Given the description of an element on the screen output the (x, y) to click on. 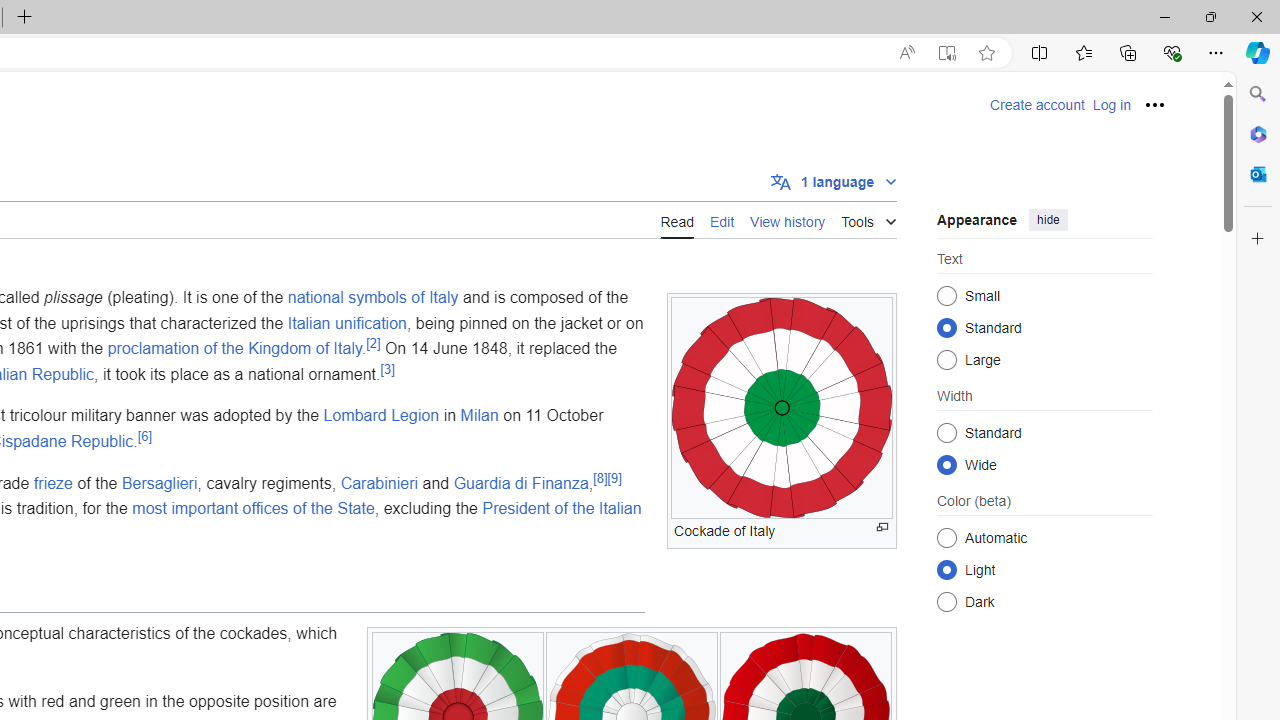
Lombard Legion (381, 415)
Microsoft 365 (1258, 133)
Read (676, 219)
Add this page to favorites (Ctrl+D) (986, 53)
[9] (614, 478)
[8] (600, 478)
Guardia di Finanza (520, 482)
Log in (1111, 105)
Create account (1037, 105)
Restore (1210, 16)
Settings and more (Alt+F) (1215, 52)
national symbols of Italy (372, 297)
Enter Immersive Reader (F9) (946, 53)
Personal tools (1155, 104)
